Given the description of an element on the screen output the (x, y) to click on. 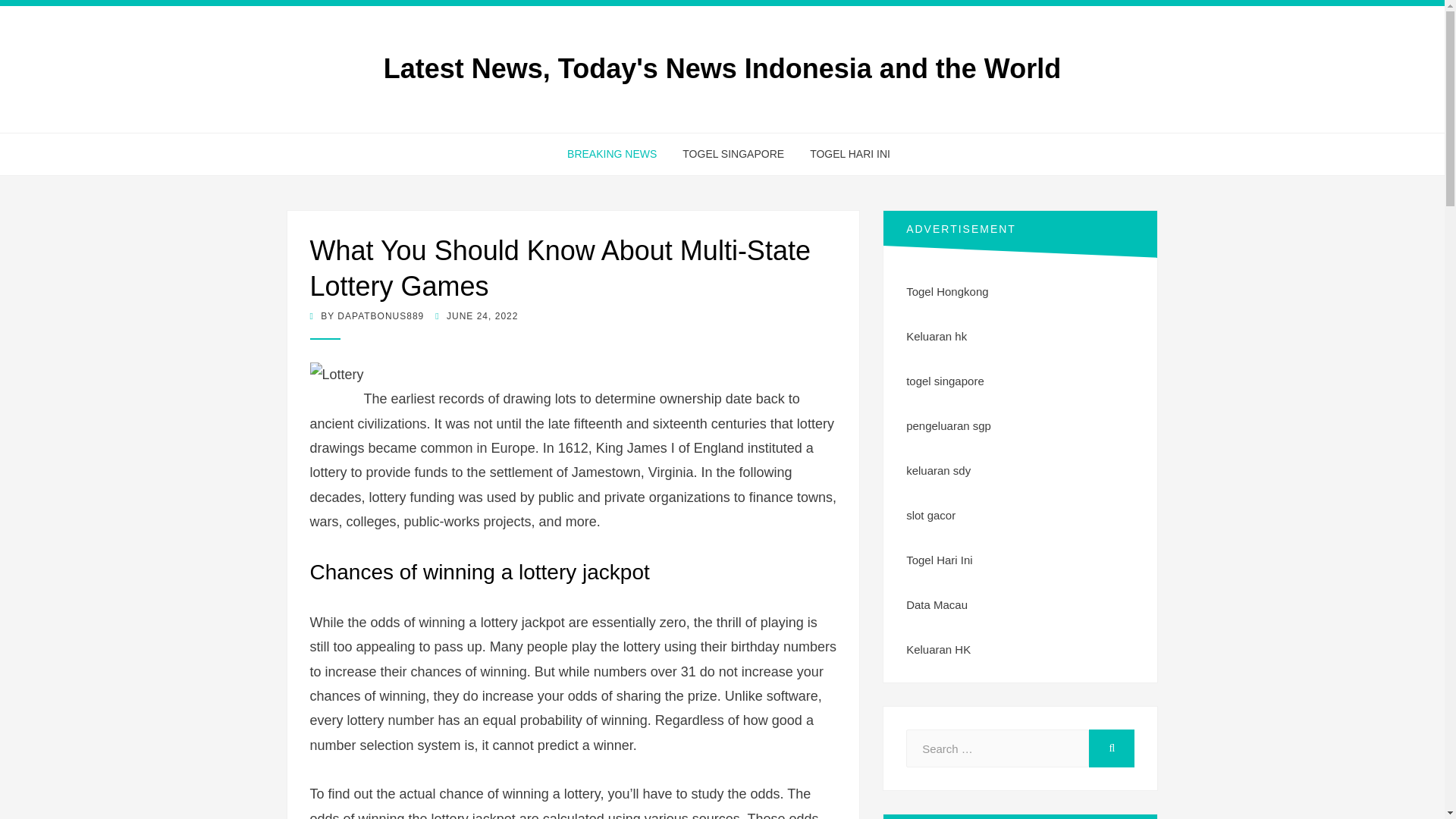
TOGEL HARI INI (842, 153)
Togel Hongkong (946, 291)
Keluaran hk (935, 336)
Latest News, Today's News Indonesia and the World (722, 68)
SEARCH (1111, 748)
TOGEL SINGAPORE (732, 153)
Togel Hari Ini (938, 559)
Search for: (997, 748)
JUNE 24, 2022 (476, 316)
togel singapore (944, 380)
